Given the description of an element on the screen output the (x, y) to click on. 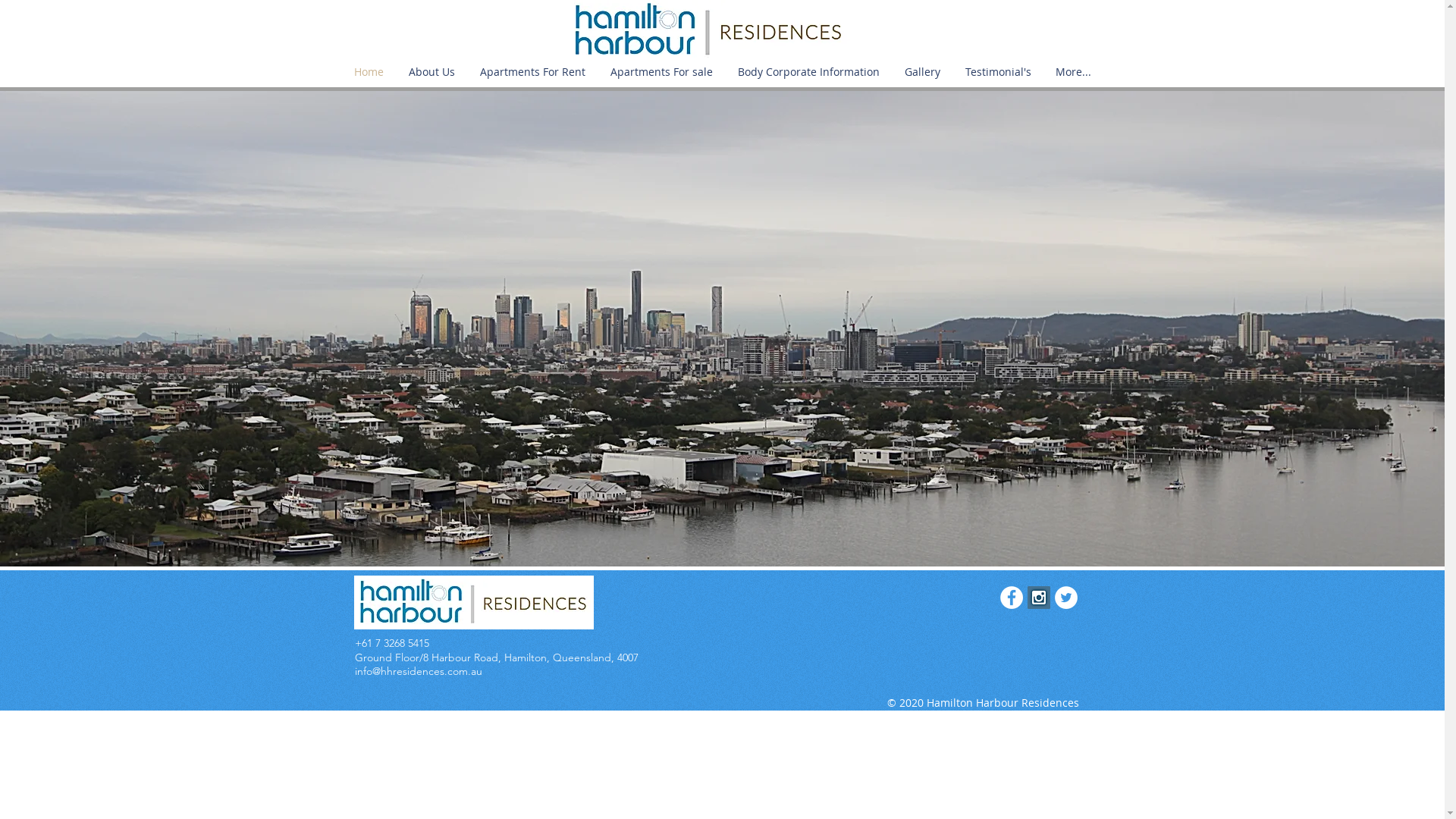
Apartments For Rent Element type: text (532, 71)
Testimonial's Element type: text (997, 71)
Body Corporate Information Element type: text (807, 71)
Home Element type: text (368, 71)
About Us Element type: text (431, 71)
HHR logo (blue) Large.jpg Element type: hover (473, 602)
Apartments For sale Element type: text (660, 71)
info@hhresidences.com.au Element type: text (418, 670)
Gallery Element type: text (921, 71)
